Given the description of an element on the screen output the (x, y) to click on. 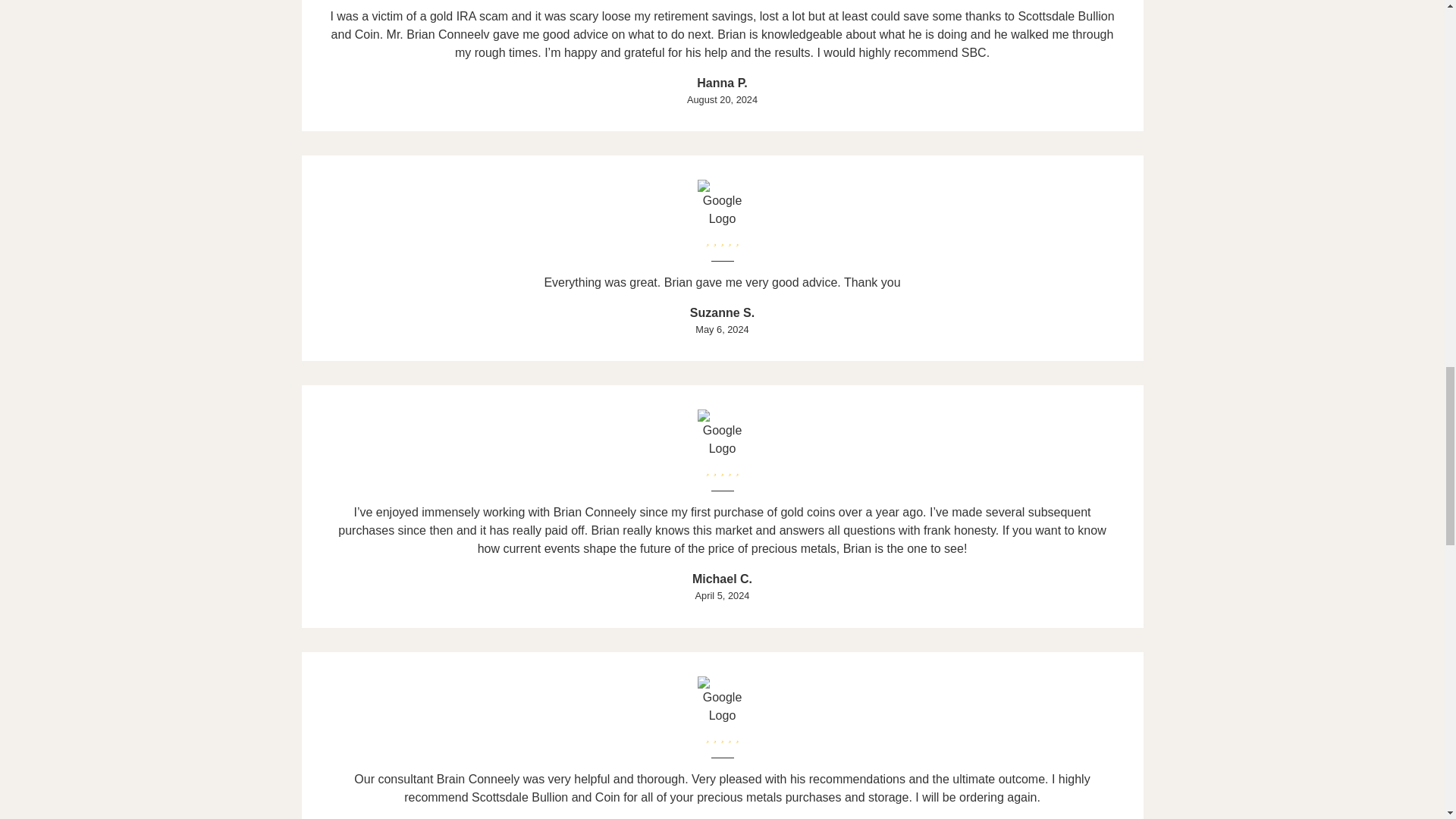
Google Logo (722, 204)
Google Logo (722, 701)
Google Logo (722, 434)
